Given the description of an element on the screen output the (x, y) to click on. 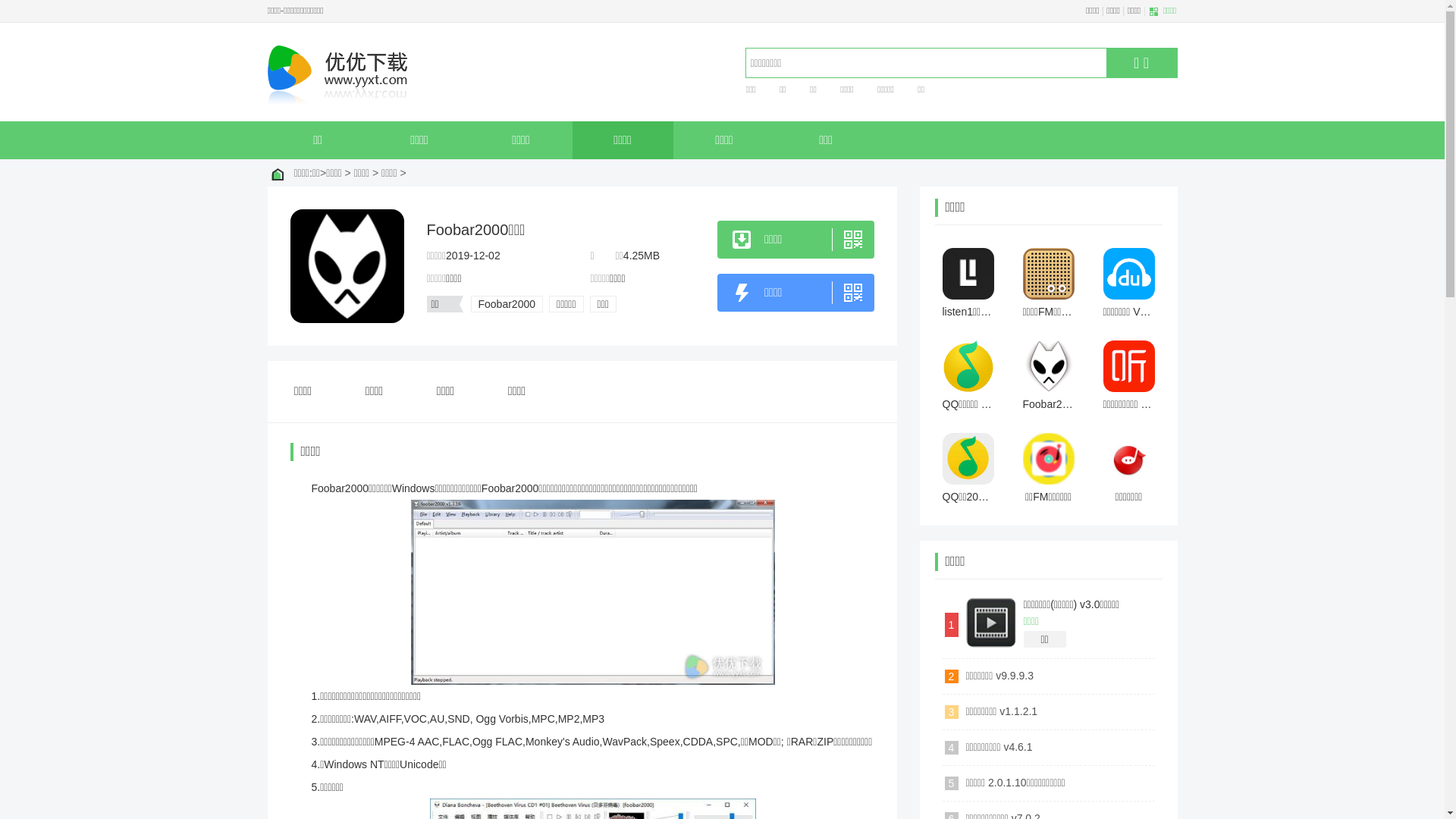
Foobar2000 Element type: text (506, 303)
